Given the description of an element on the screen output the (x, y) to click on. 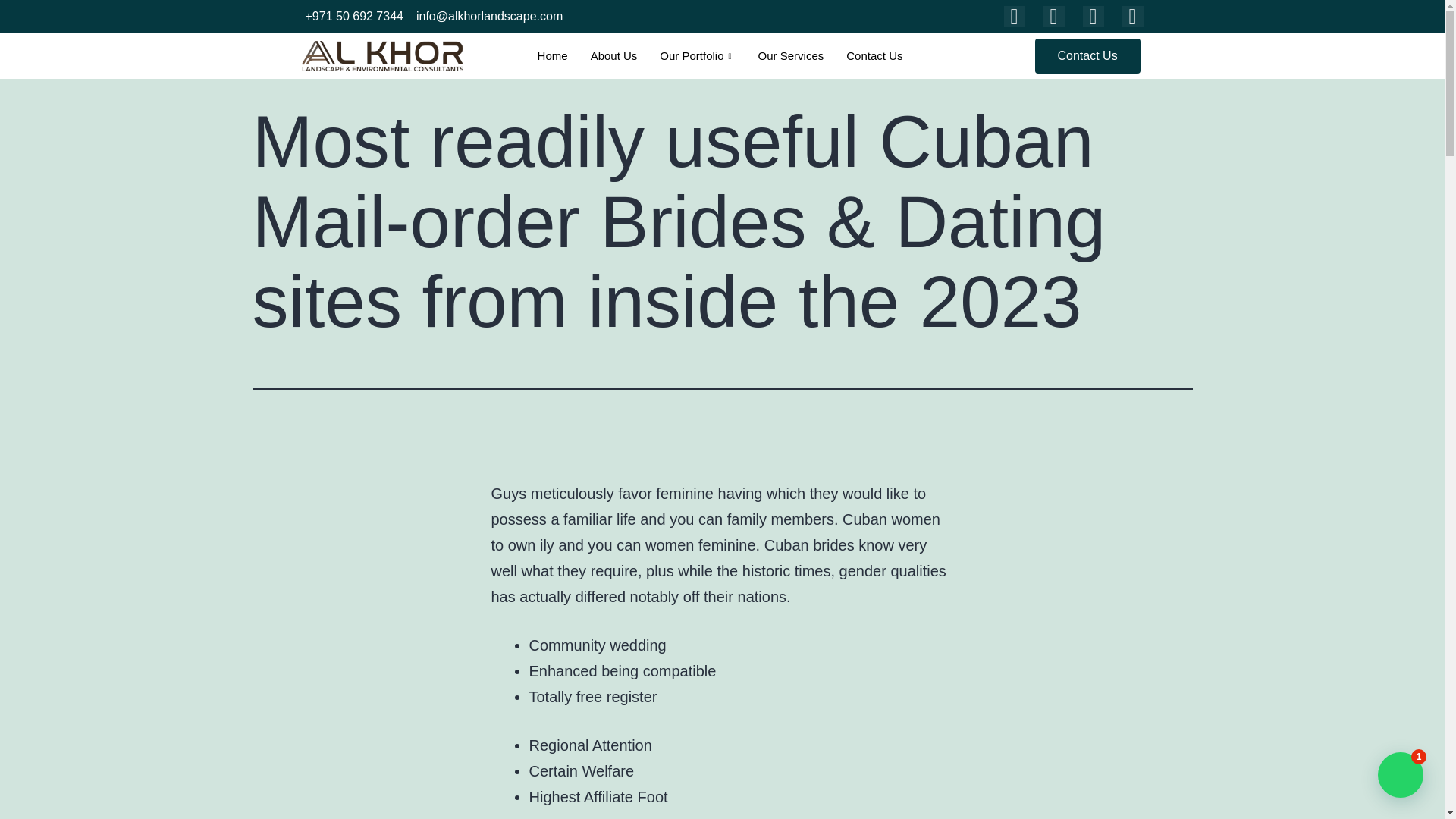
About Us (614, 55)
Contact Us (1086, 55)
Our Portfolio (696, 55)
Contact Us (874, 55)
Our Services (790, 55)
